Given the description of an element on the screen output the (x, y) to click on. 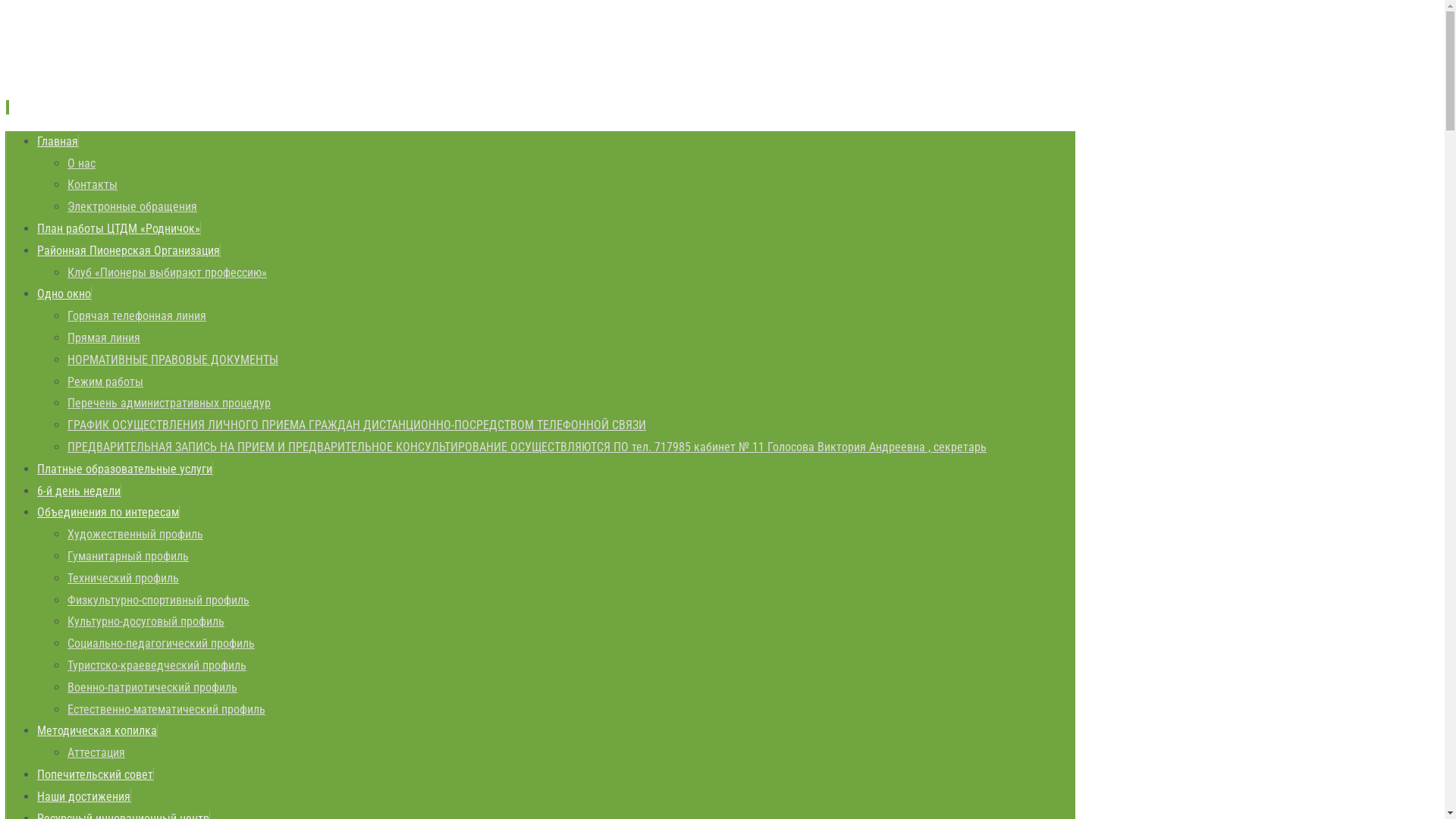
  Element type: text (7, 107)
